Given the description of an element on the screen output the (x, y) to click on. 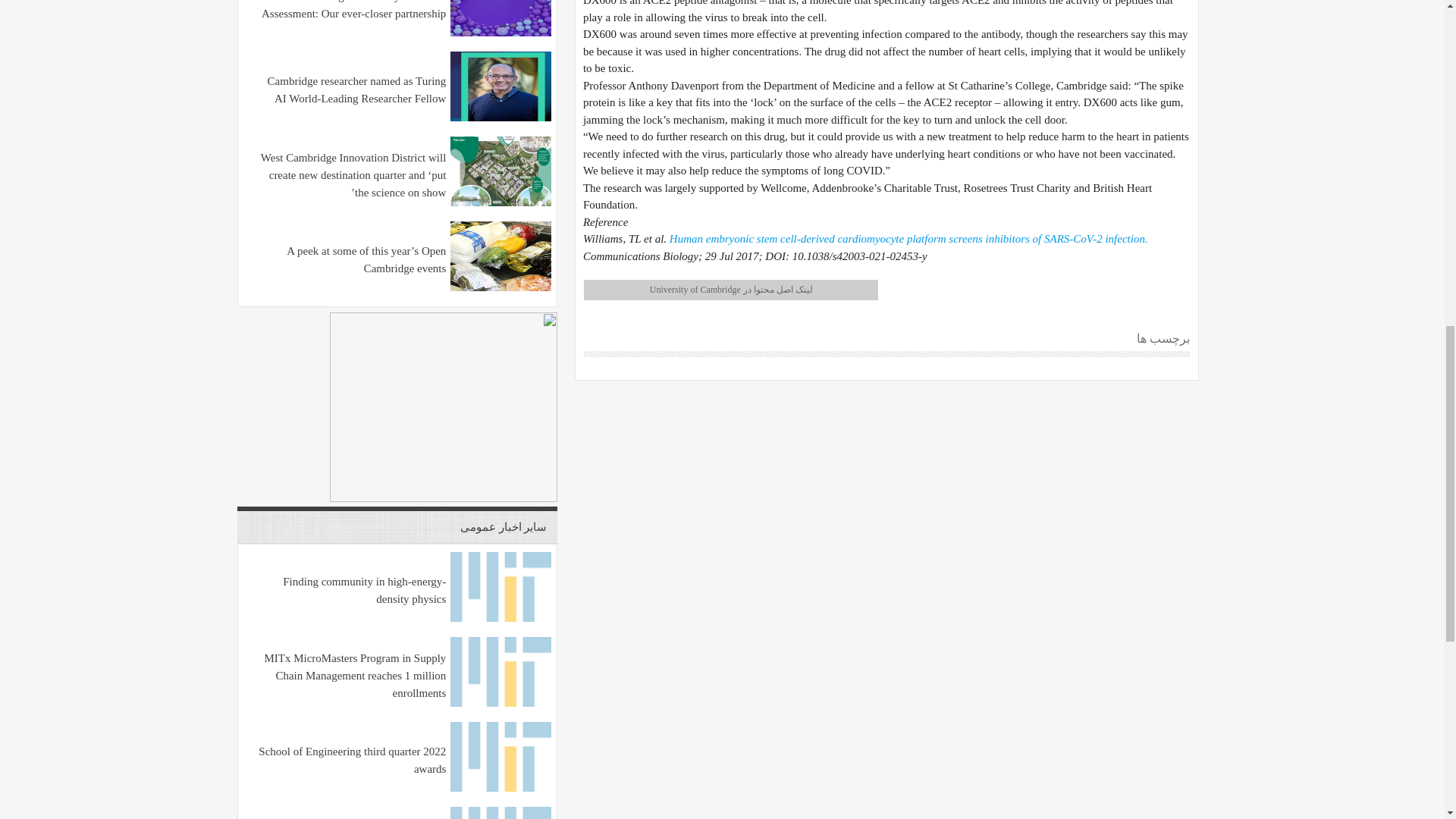
School of Engineering third quarter 2022 awards (500, 787)
Finding community in high-energy-density physics (500, 617)
